Given the description of an element on the screen output the (x, y) to click on. 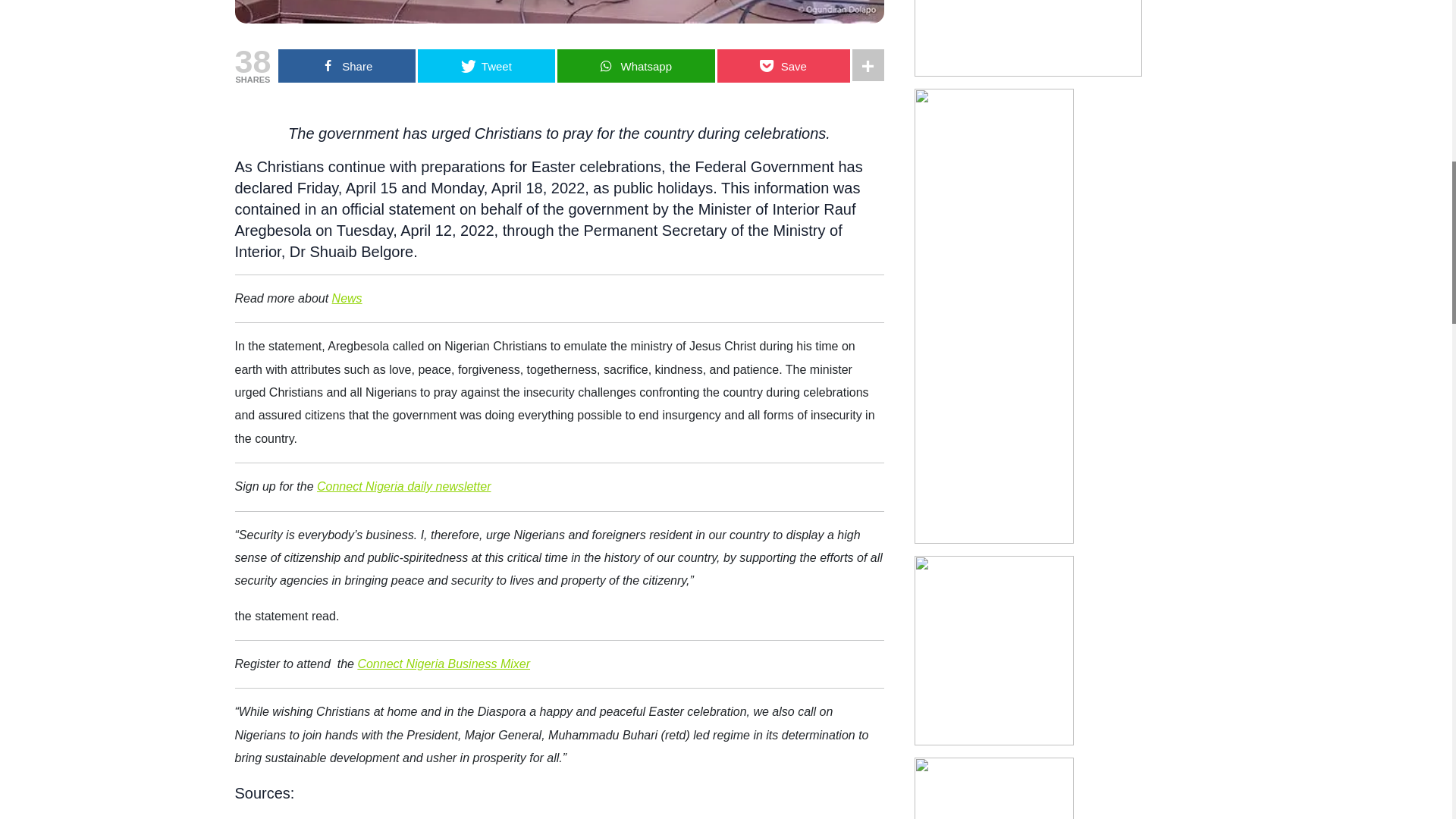
News (346, 297)
Connect Nigeria Business Mixer (442, 663)
Tweet (485, 65)
Share (346, 65)
Save (783, 65)
Connect Nigeria daily newsletter (403, 486)
Whatsapp (635, 65)
